Given the description of an element on the screen output the (x, y) to click on. 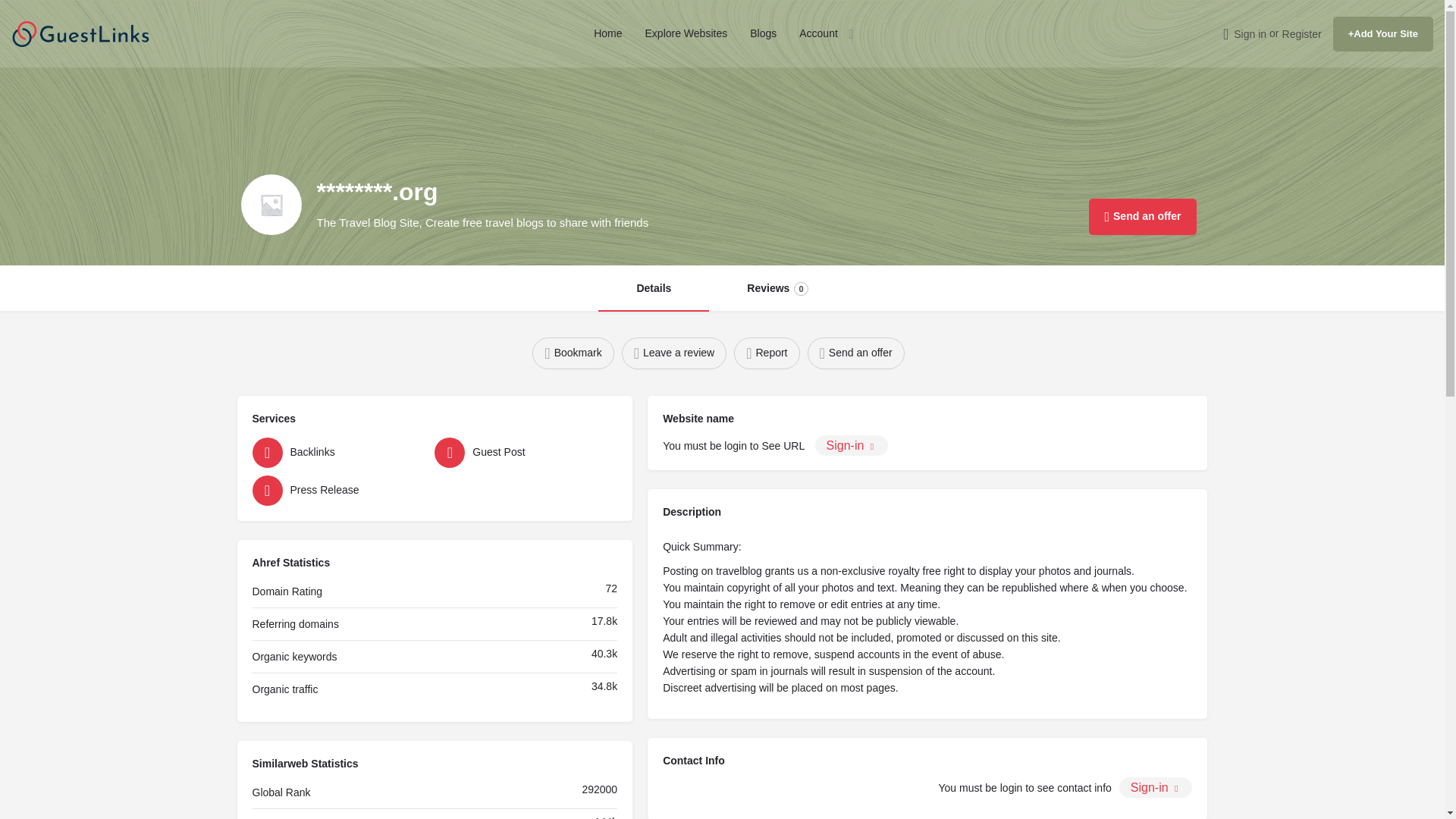
Guest Post (521, 452)
Send an offer (856, 353)
Sign in (1249, 33)
Backlinks (338, 452)
Report (766, 353)
Home (607, 32)
Sign-in (851, 444)
Leave a review (673, 353)
Explore Websites (686, 32)
Register (1302, 33)
Bookmark (572, 353)
Account (818, 32)
Send an offer (1142, 217)
Blogs (762, 32)
Details (653, 289)
